Given the description of an element on the screen output the (x, y) to click on. 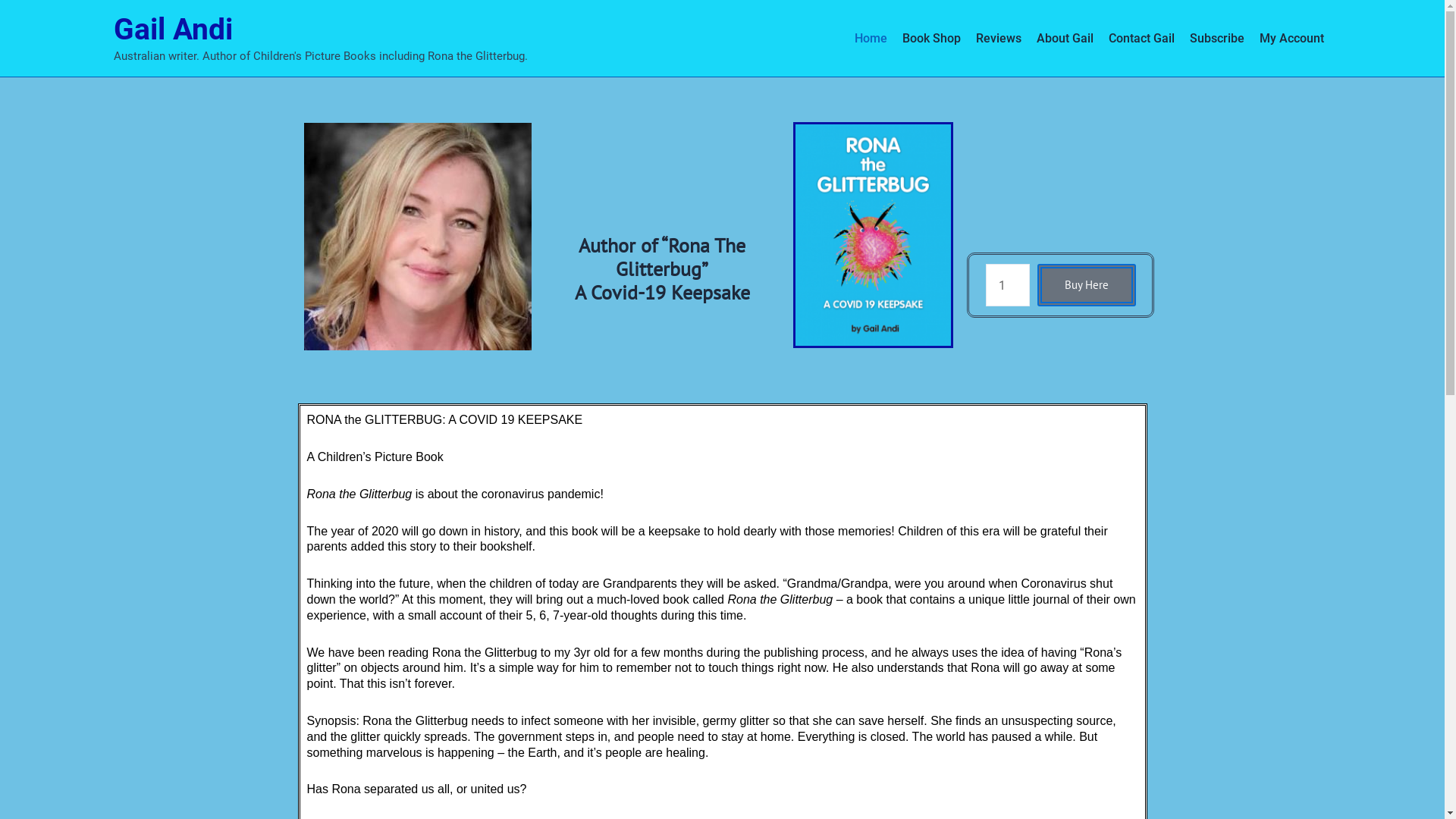
Subscribe Element type: text (1216, 38)
About Gail Element type: text (1064, 38)
My Account Element type: text (1290, 38)
Book Shop Element type: text (931, 38)
Gail Andi Element type: text (172, 29)
Buy Here Element type: text (1086, 284)
Home Element type: text (870, 38)
Reviews Element type: text (997, 38)
Contact Gail Element type: text (1141, 38)
